Given the description of an element on the screen output the (x, y) to click on. 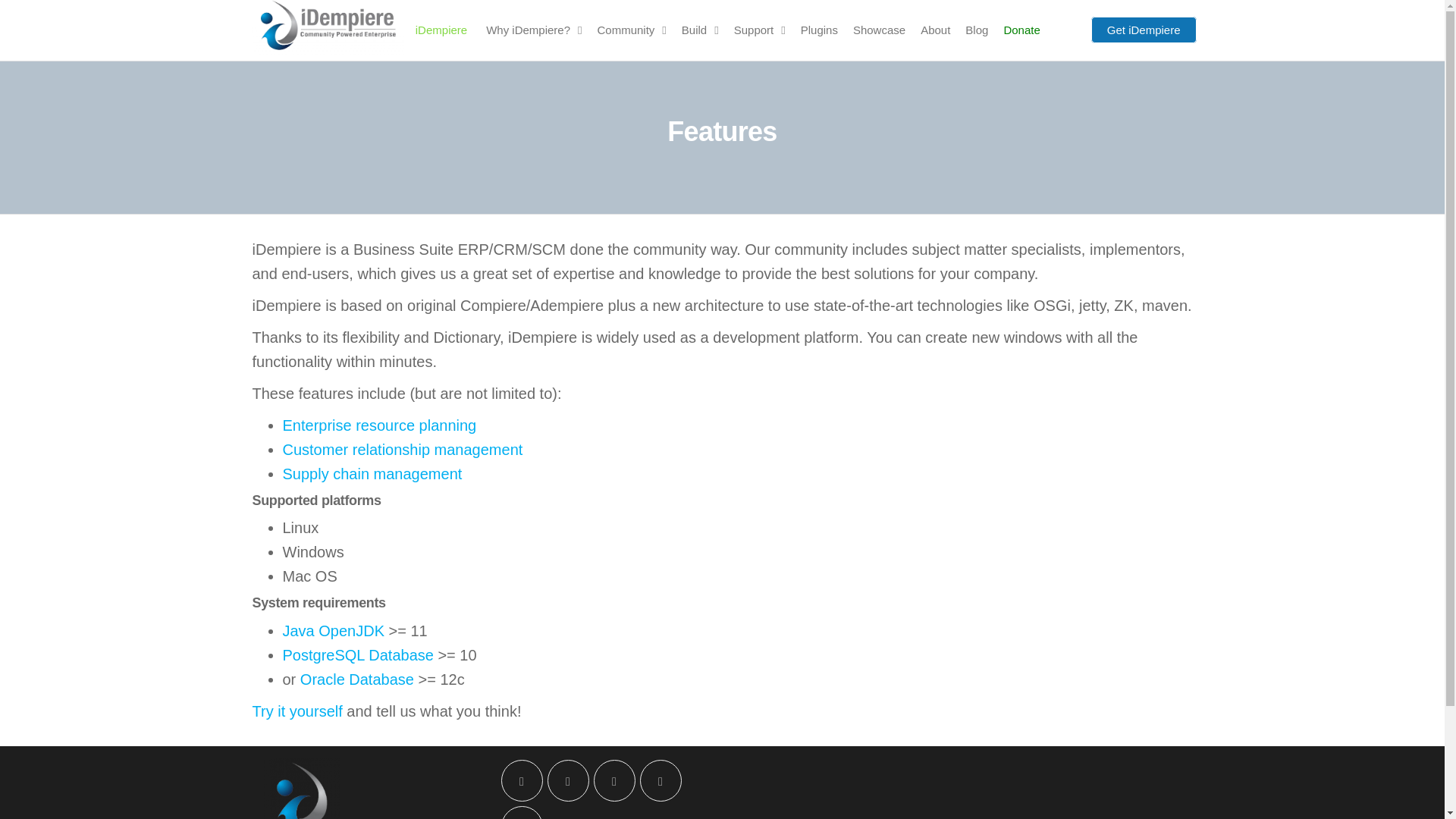
Showcase (878, 30)
Customer relationship management (402, 449)
Try it yourself (296, 710)
Oracle Database (356, 678)
PostgreSQL Database (357, 655)
Get iDempiere (1143, 29)
Why iDempiere? (534, 30)
Community (631, 30)
Enterprise resource planning (379, 425)
Community (631, 30)
